Given the description of an element on the screen output the (x, y) to click on. 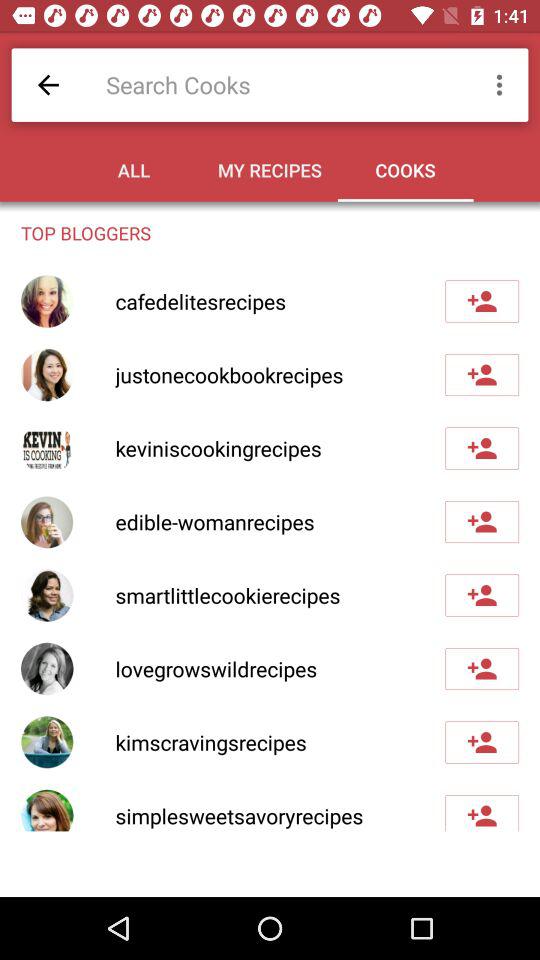
follow blogger (482, 375)
